Given the description of an element on the screen output the (x, y) to click on. 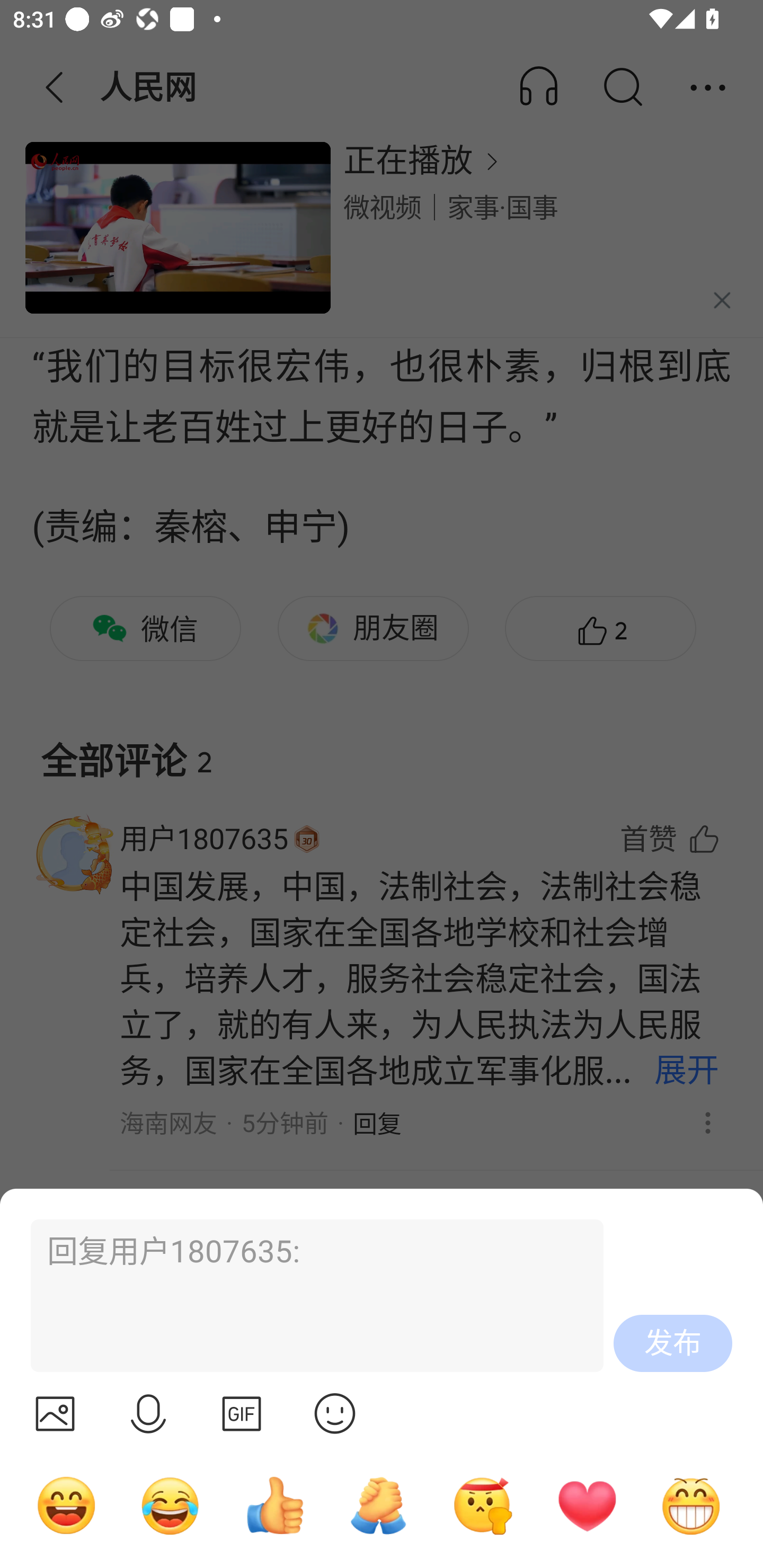
回复用户1807635: (308, 1295)
发布 (672, 1343)
 (54, 1413)
 (148, 1413)
 (241, 1413)
 (334, 1413)
哈哈 (66, 1505)
哭笑 (170, 1505)
点赞 (274, 1505)
加油 (378, 1505)
奋斗 (482, 1505)
心 (586, 1505)
呲牙 (690, 1505)
